Given the description of an element on the screen output the (x, y) to click on. 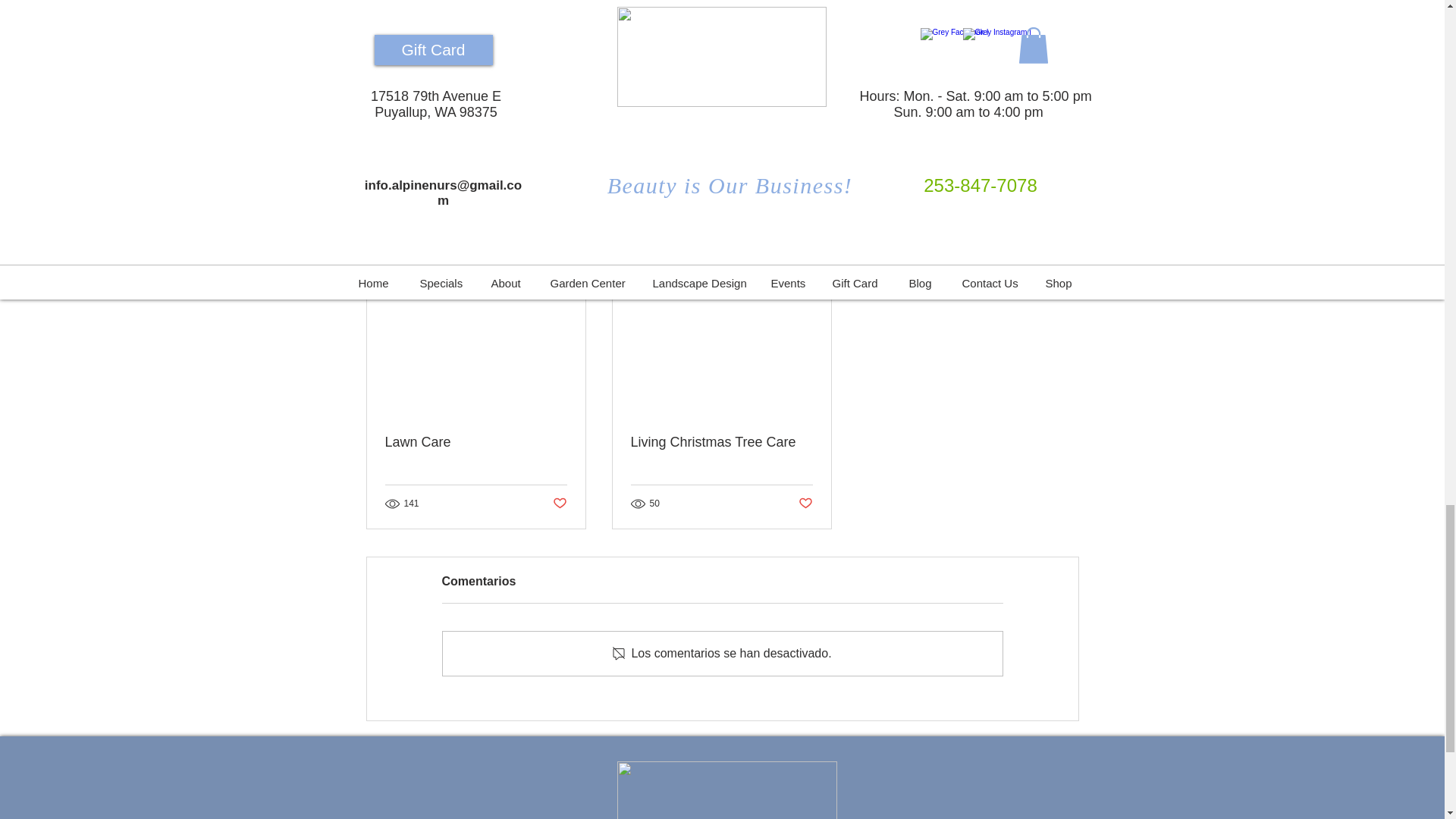
Post not marked as liked (804, 503)
Post not marked as liked (558, 503)
See All (1061, 266)
Lawn Care (990, 183)
Living Christmas Tree Care (476, 442)
